Given the description of an element on the screen output the (x, y) to click on. 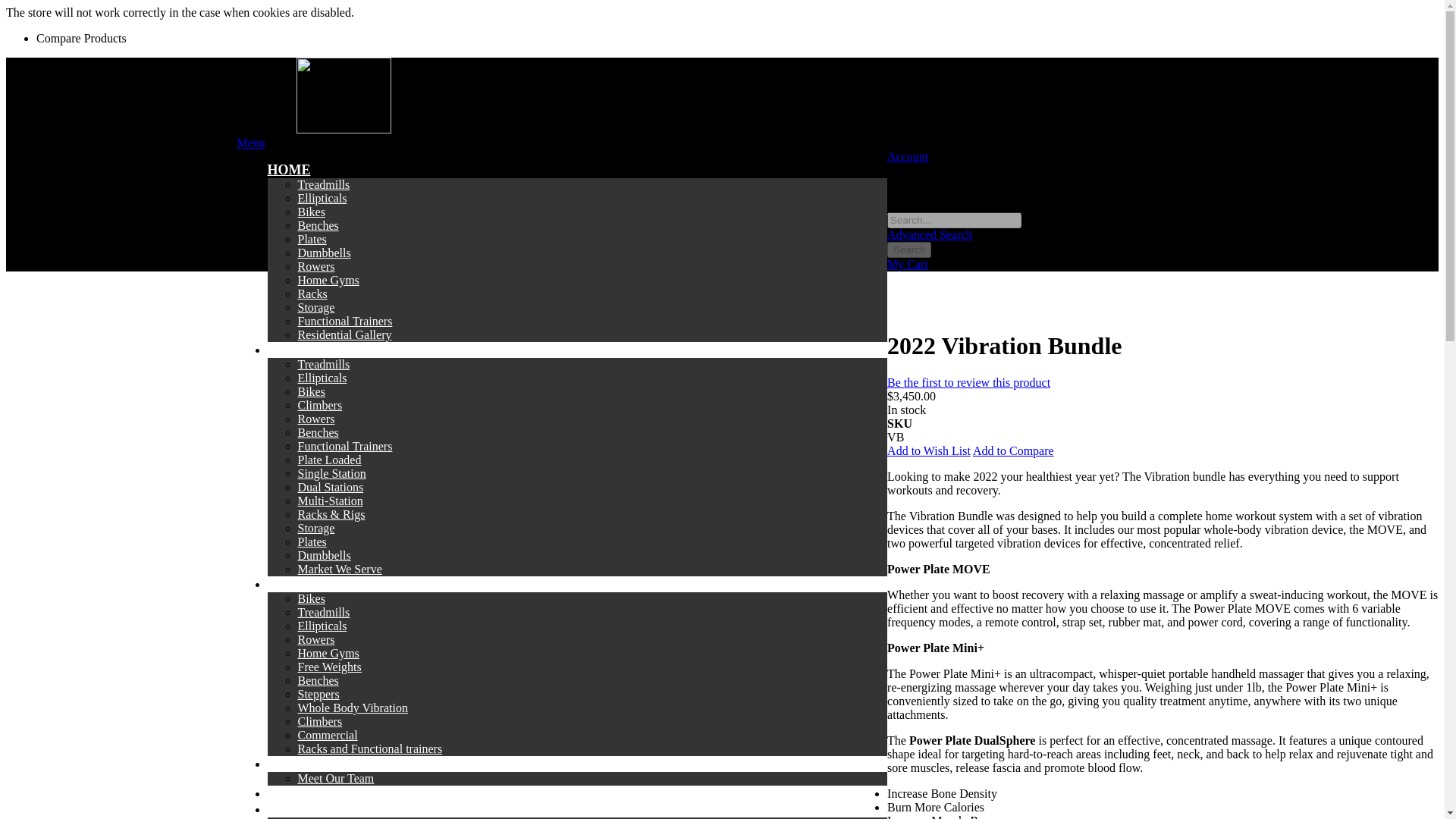
Compare Products (81, 38)
Compare Products (81, 38)
Menu (249, 142)
Search (908, 249)
